Given the description of an element on the screen output the (x, y) to click on. 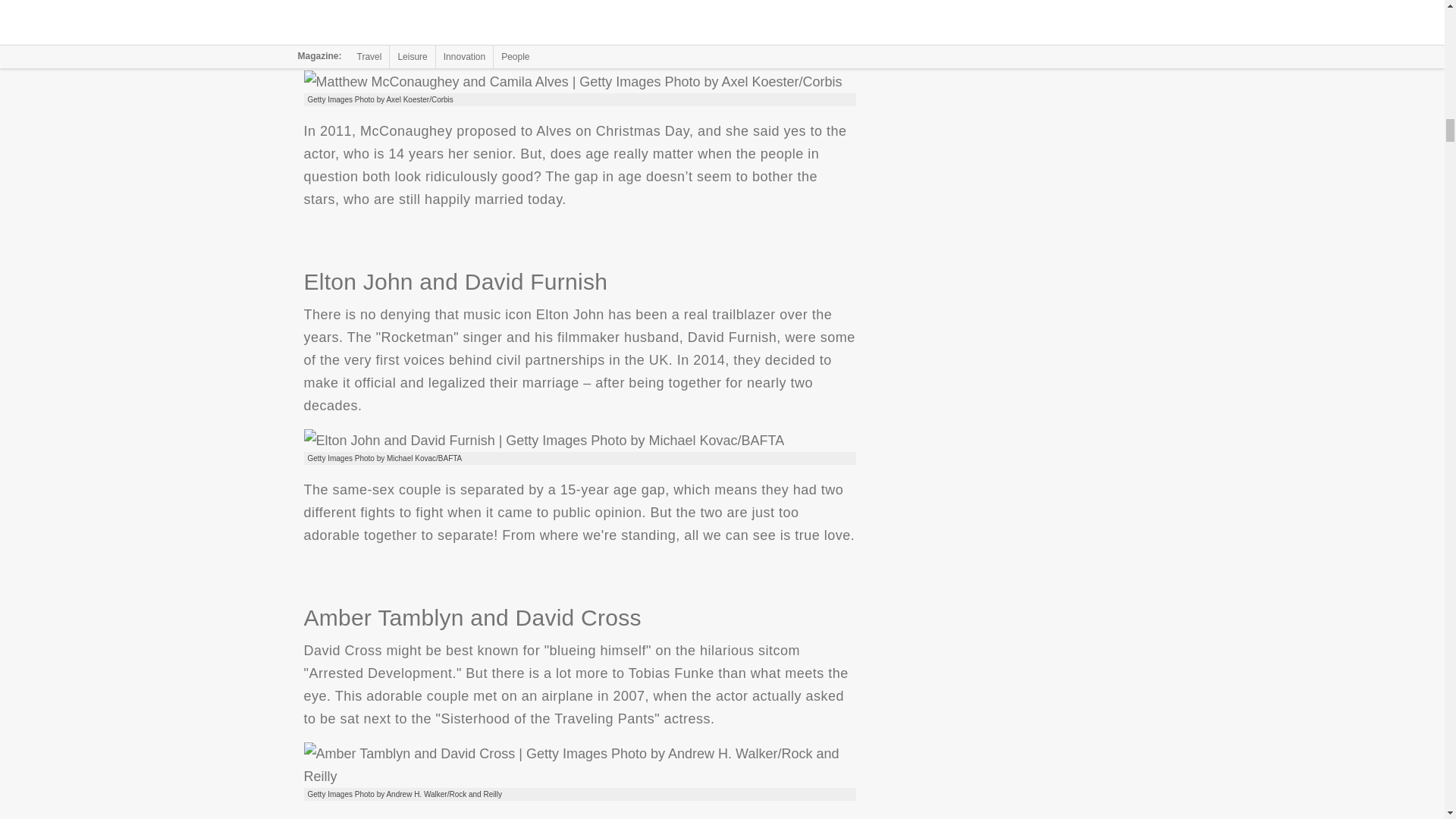
Amber Tamblyn and David Cross (579, 764)
Matthew McConaughey and Camila Alves (571, 81)
Elton John and David Furnish (543, 440)
